Given the description of an element on the screen output the (x, y) to click on. 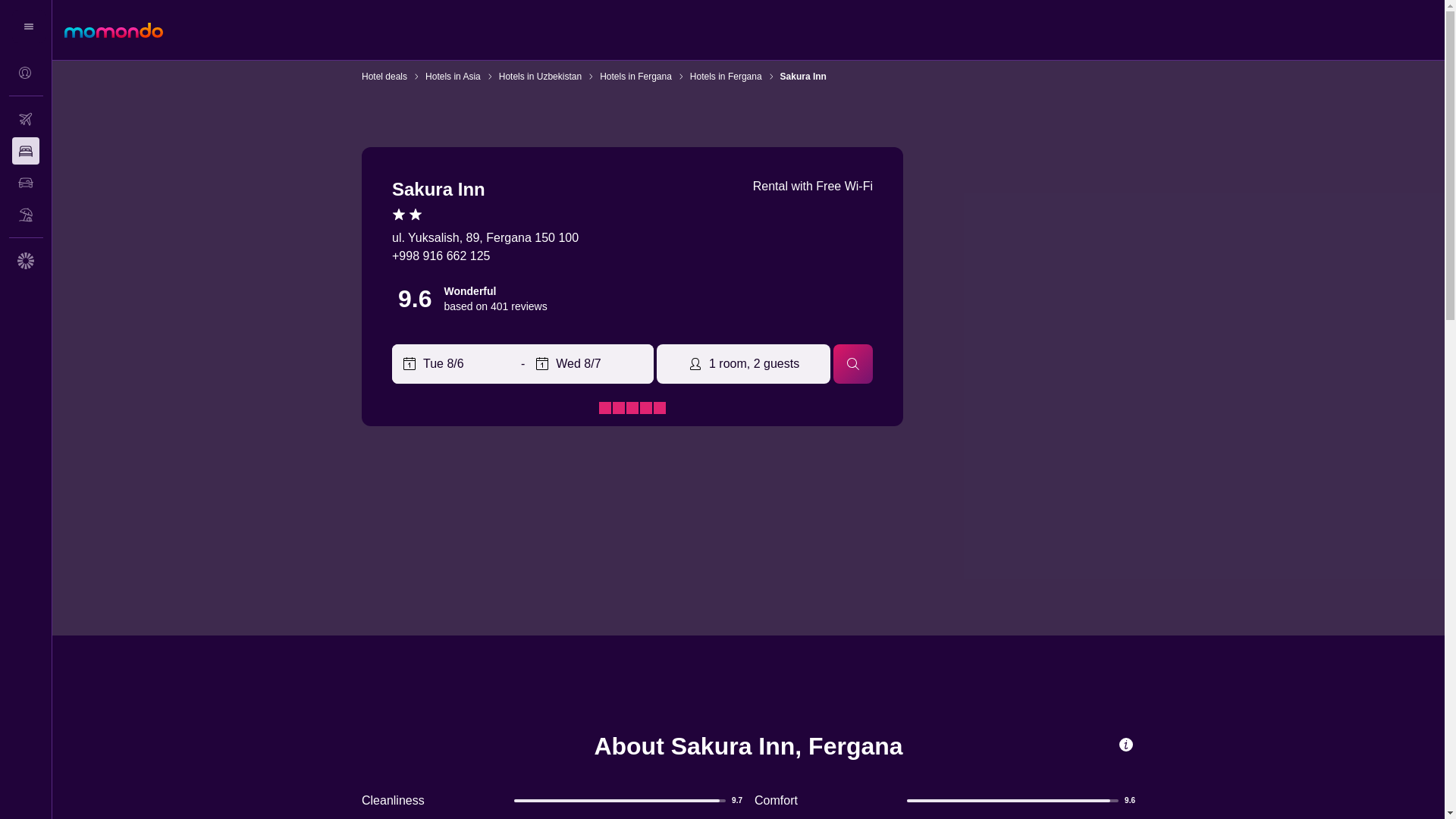
Hotel deals (384, 76)
Hotels in Fergana (725, 76)
1 room, 2 guests (742, 363)
Hotels in Asia (452, 76)
Hotels in Uzbekistan (539, 76)
Hotels in Fergana (635, 76)
